Given the description of an element on the screen output the (x, y) to click on. 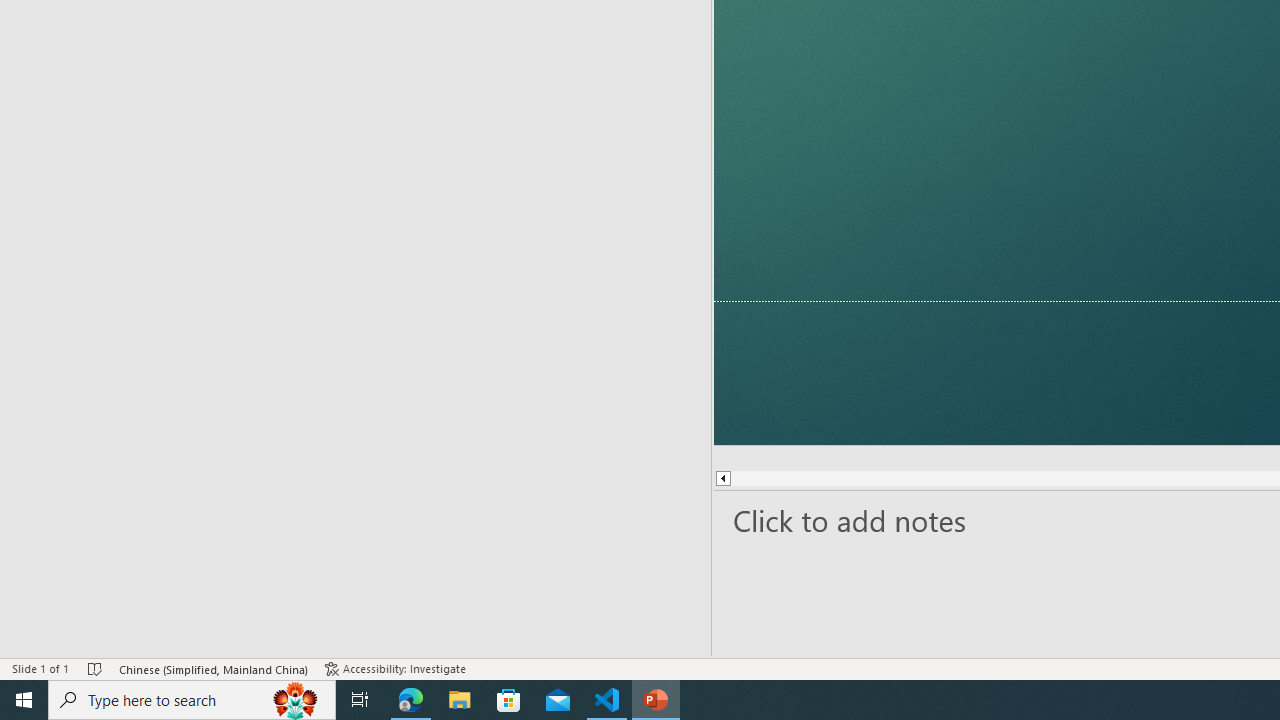
Line up (723, 479)
Accessibility Checker Accessibility: Investigate (397, 668)
Spell Check No Errors (95, 668)
Page up (817, 479)
